Given the description of an element on the screen output the (x, y) to click on. 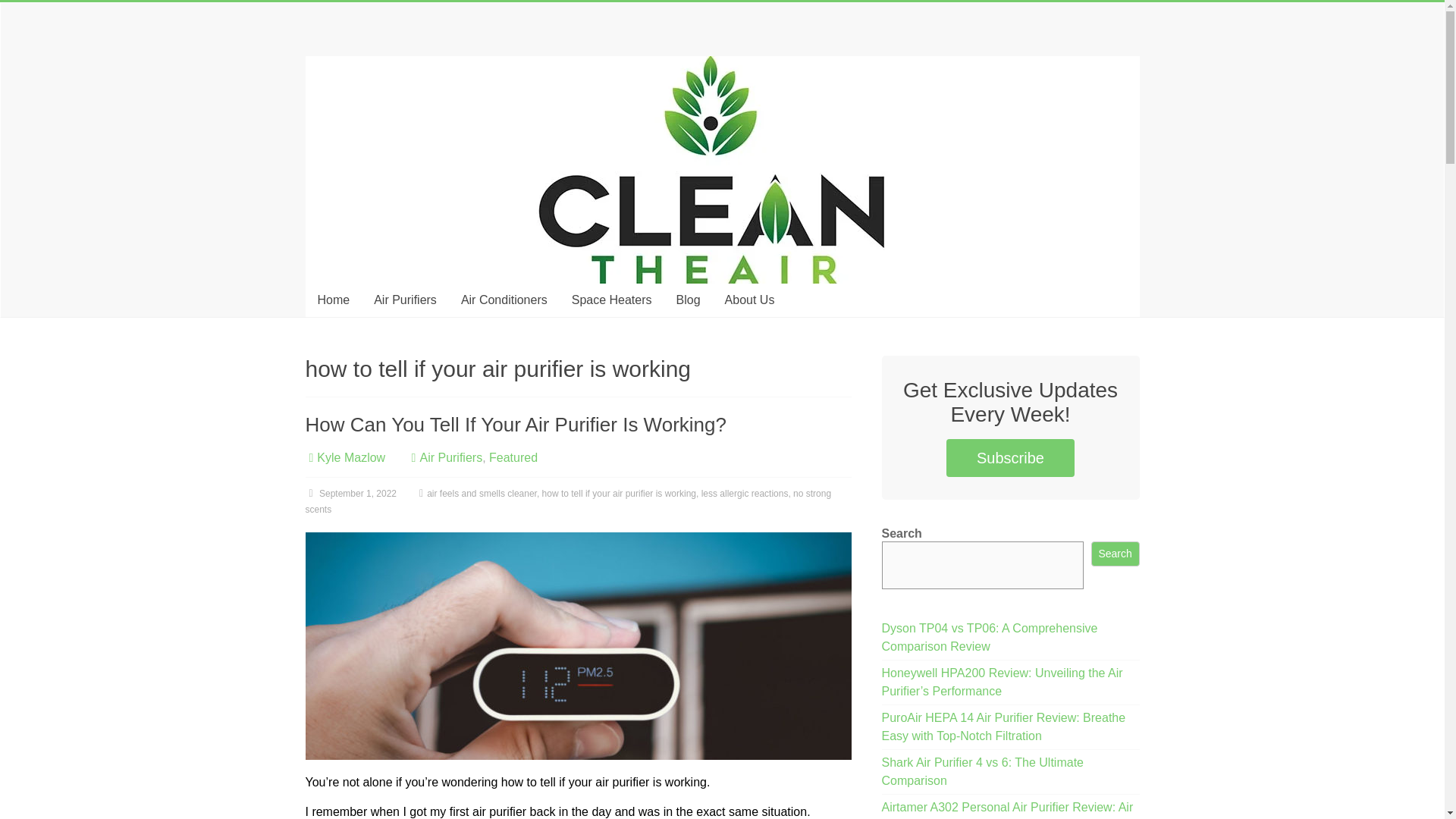
How Can You Tell If Your Air Purifier Is Working? (577, 539)
12:09 pm (350, 493)
Search (1115, 553)
Air Purifiers (450, 457)
no strong scents (567, 501)
Air Conditioners (503, 299)
Kyle Mazlow (351, 457)
Home (332, 299)
Subscribe (1010, 457)
Kyle Mazlow (351, 457)
September 1, 2022 (350, 493)
Shark Air Purifier 4 vs 6: The Ultimate Comparison (982, 770)
How Can You Tell If Your Air Purifier Is Working? (577, 646)
